Given the description of an element on the screen output the (x, y) to click on. 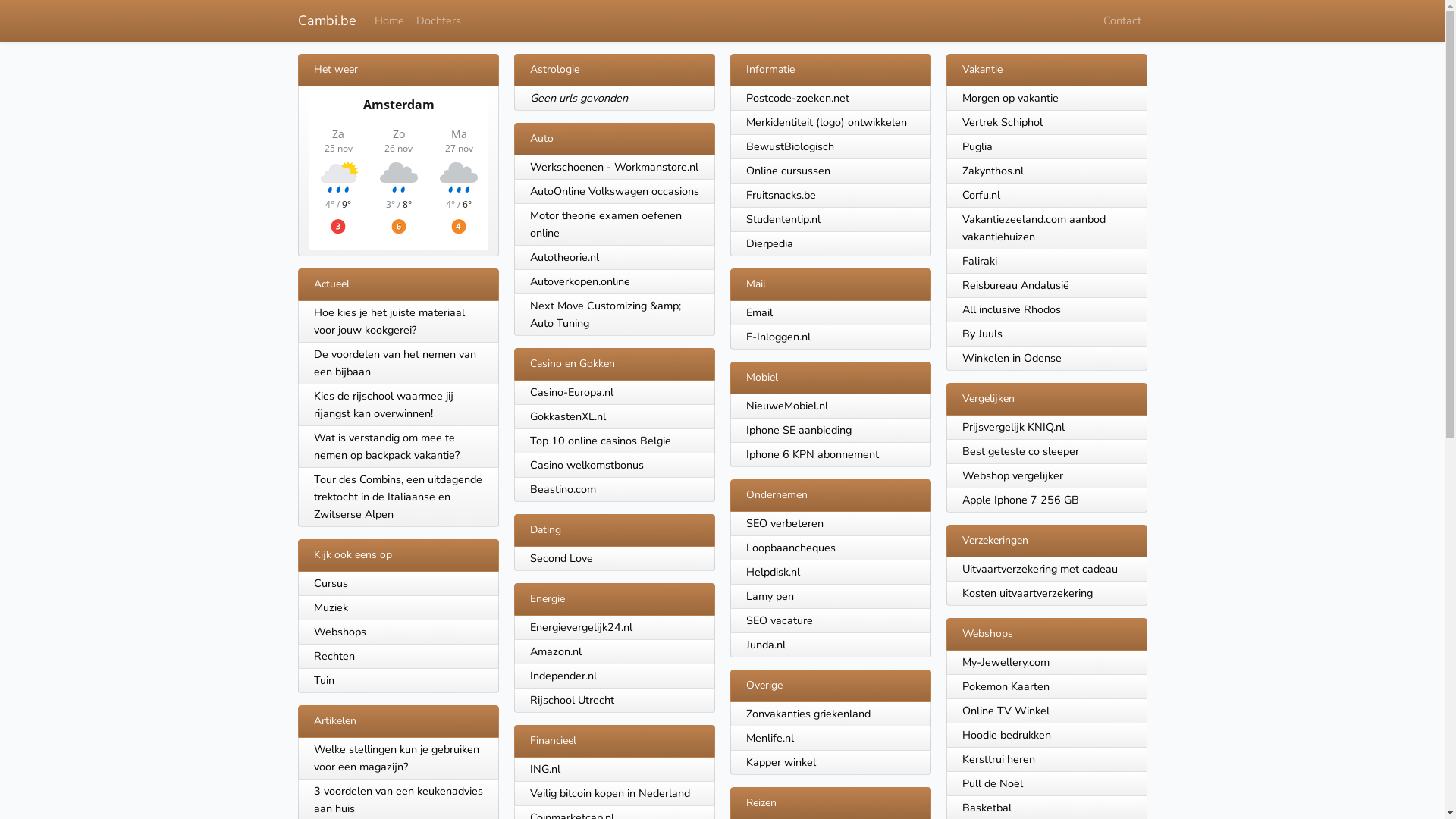
BewustBiologisch Element type: text (790, 145)
Beastino.com Element type: text (562, 488)
Postcode-zoeken.net Element type: text (797, 97)
Dochters Element type: text (437, 20)
Prijsvergelijk KNIQ.nl Element type: text (1012, 426)
Kies de rijschool waarmee jij rijangst kan overwinnen! Element type: text (397, 405)
SEO vacature Element type: text (779, 619)
Vakantiezeeland.com aanbod vakantiehuizen Element type: text (1032, 227)
Helpdisk.nl Element type: text (773, 571)
Webshops Element type: text (397, 632)
Top 10 online casinos Belgie Element type: text (599, 440)
E-Inloggen.nl Element type: text (778, 336)
Tuin Element type: text (397, 680)
Motor theorie examen oefenen online Element type: text (604, 223)
Uitvaartverzekering met cadeau Element type: text (1039, 568)
Faliraki Element type: text (978, 260)
Winkelen in Odense Element type: text (1010, 357)
All inclusive Rhodos Element type: text (1010, 308)
Loopbaancheques Element type: text (790, 547)
Energievergelijk24.nl Element type: text (580, 626)
Zakynthos.nl Element type: text (991, 170)
De voordelen van het nemen van een bijbaan Element type: text (397, 363)
My-Jewellery.com Element type: text (1004, 661)
Kapper winkel Element type: text (780, 761)
Autotheorie.nl Element type: text (563, 256)
Dierpedia Element type: text (769, 243)
Casino-Europa.nl Element type: text (570, 391)
Cambi.be Element type: text (326, 20)
Basketbal Element type: text (985, 807)
Welke stellingen kun je gebruiken voor een magazijn? Element type: text (397, 758)
Cursus Element type: text (397, 583)
Zonvakanties griekenland Element type: text (808, 713)
Amazon.nl Element type: text (554, 650)
Wat is verstandig om mee te nemen op backpack vakantie? Element type: text (397, 446)
Next Move Customizing &amp; Auto Tuning Element type: text (604, 314)
Morgen op vakantie Element type: text (1009, 97)
Pokemon Kaarten Element type: text (1004, 685)
AutoOnline Volkswagen occasions Element type: text (613, 190)
Best geteste co sleeper Element type: text (1019, 450)
Autoverkopen.online Element type: text (579, 280)
Second Love Element type: text (560, 557)
Contact Element type: text (1121, 20)
NieuweMobiel.nl Element type: text (787, 405)
GokkastenXL.nl Element type: text (567, 415)
Studententip.nl Element type: text (783, 218)
Hoodie bedrukken Element type: text (1005, 734)
Casino welkomstbonus Element type: text (586, 464)
Email Element type: text (759, 312)
Kersttrui heren Element type: text (997, 758)
Rechten Element type: text (397, 656)
Veilig bitcoin kopen in Nederland Element type: text (609, 792)
Corfu.nl Element type: text (980, 194)
Iphone 6 KPN abonnement Element type: text (812, 453)
Puglia Element type: text (976, 145)
ING.nl Element type: text (544, 768)
Merkidentiteit (logo) ontwikkelen Element type: text (826, 121)
Junda.nl Element type: text (765, 644)
Home Element type: text (389, 20)
Independer.nl Element type: text (562, 675)
Webshop vergelijker Element type: text (1011, 475)
SEO verbeteren Element type: text (784, 522)
Rijschool Utrecht Element type: text (571, 699)
Hoe kies je het juiste materiaal voor jouw kookgerei? Element type: text (397, 321)
Menlife.nl Element type: text (769, 737)
Online cursussen Element type: text (788, 170)
By Juuls Element type: text (981, 333)
Kosten uitvaartverzekering Element type: text (1026, 592)
Muziek Element type: text (397, 608)
Lamy pen Element type: text (769, 595)
Fruitsnacks.be Element type: text (780, 194)
Iphone SE aanbieding Element type: text (798, 429)
Vertrek Schiphol Element type: text (1001, 121)
Werkschoenen - Workmanstore.nl Element type: text (613, 166)
Online TV Winkel Element type: text (1004, 710)
Apple Iphone 7 256 GB Element type: text (1019, 499)
